Given the description of an element on the screen output the (x, y) to click on. 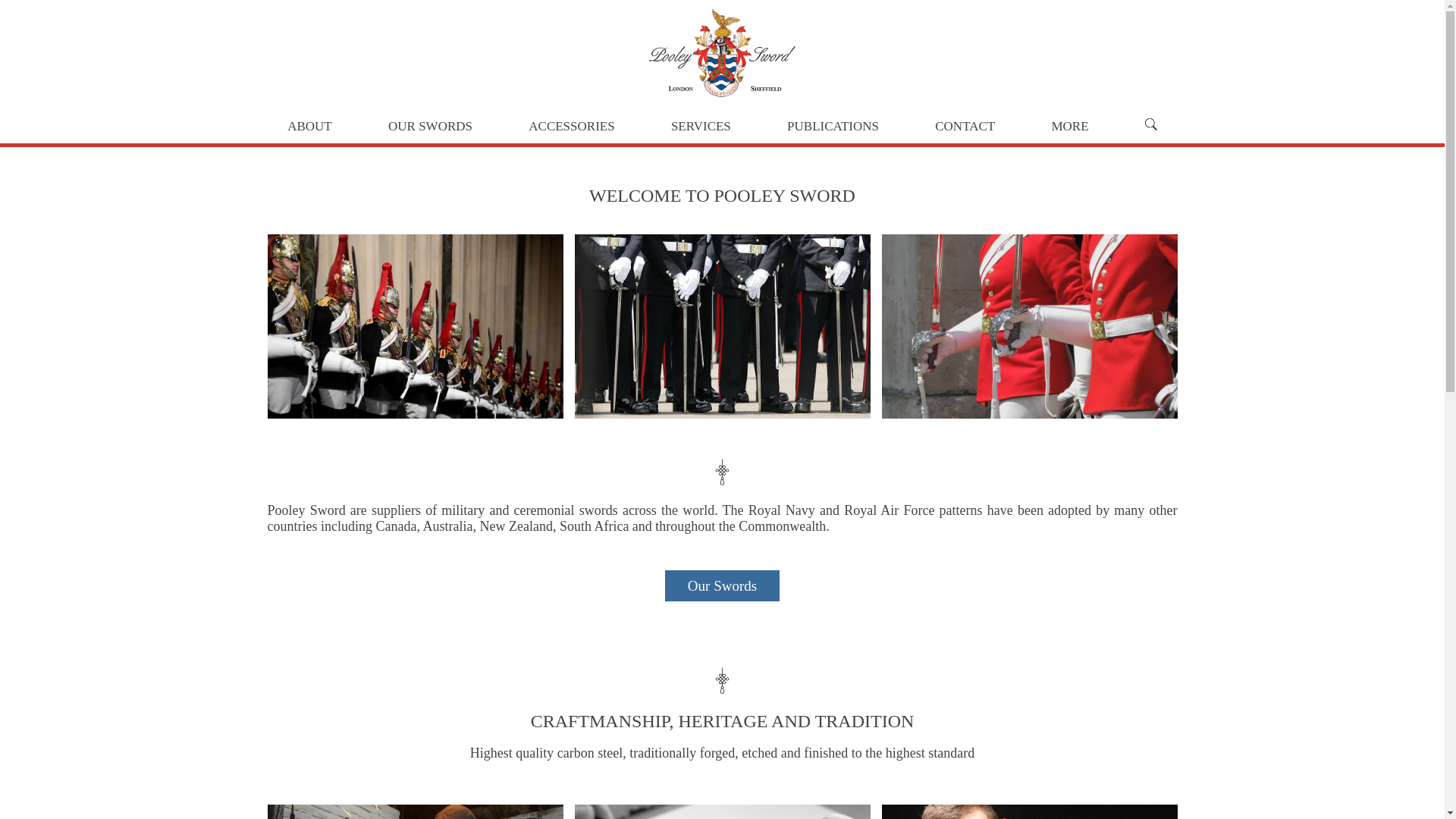
OUR SWORDS (429, 125)
SERVICES (700, 125)
ABOUT (308, 125)
ACCESSORIES (571, 125)
